Given the description of an element on the screen output the (x, y) to click on. 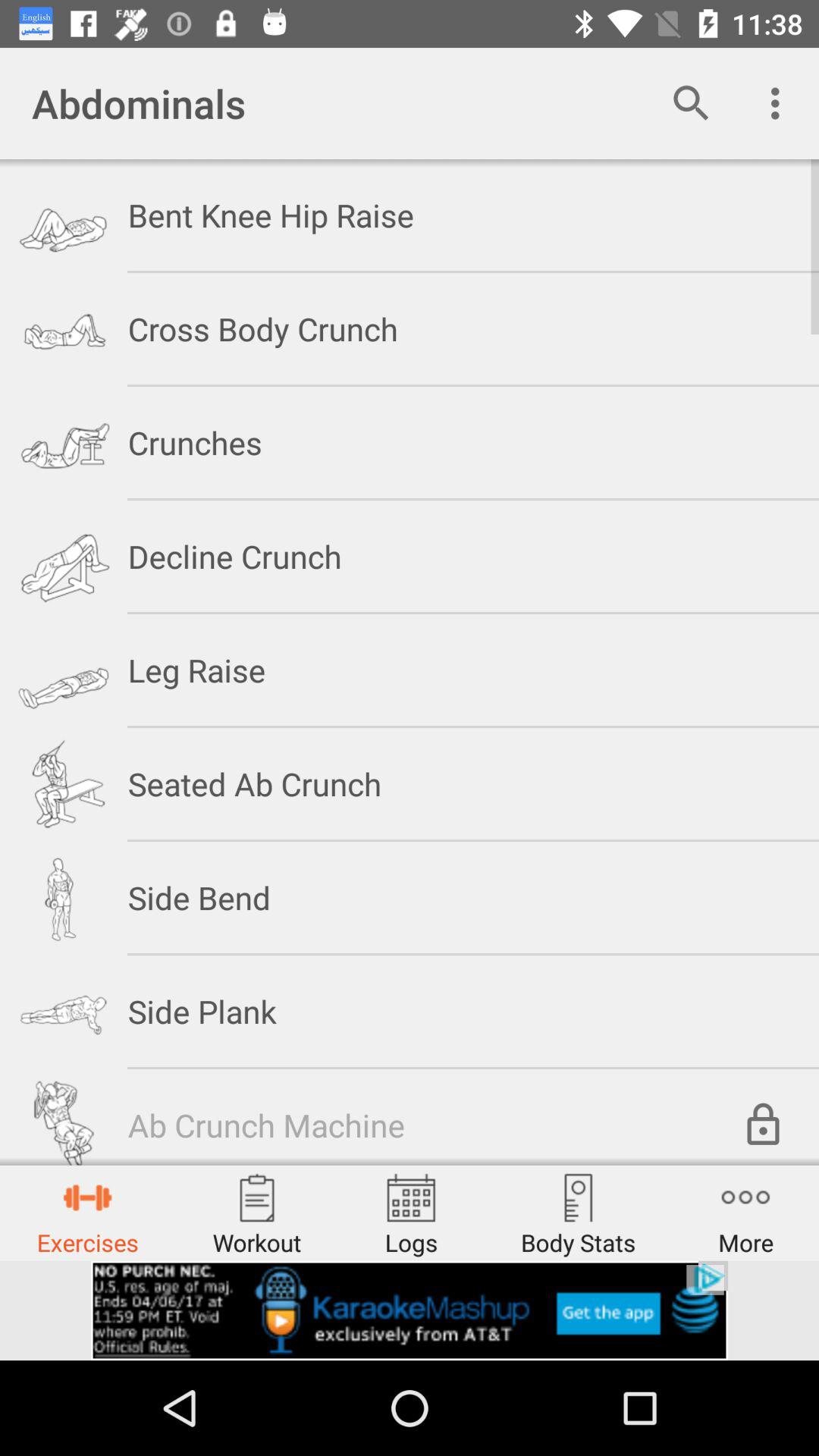
add the option (409, 1310)
